Given the description of an element on the screen output the (x, y) to click on. 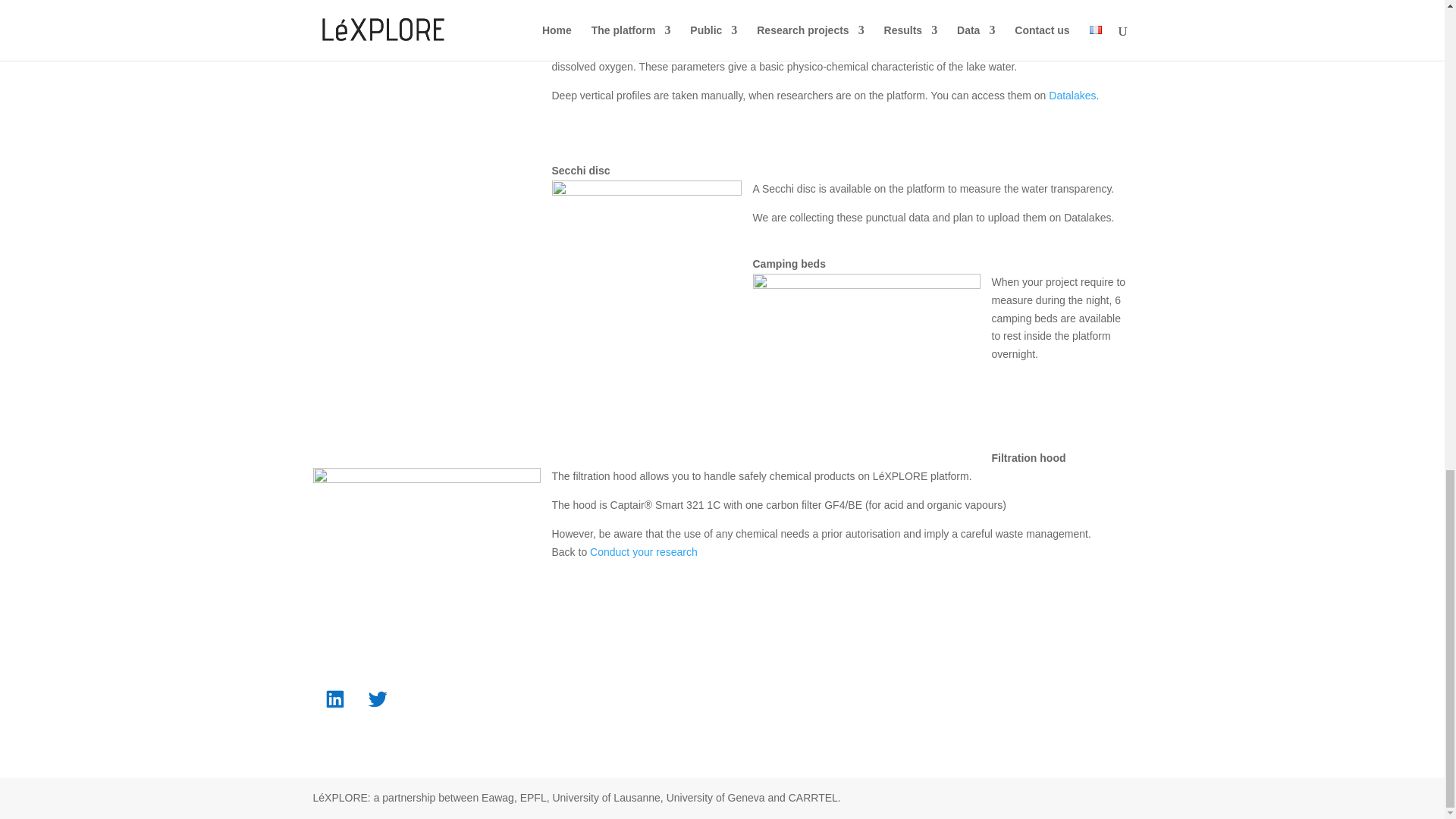
LinkedIn (334, 698)
Datalakes (1072, 95)
Conduct your research (643, 551)
